Given the description of an element on the screen output the (x, y) to click on. 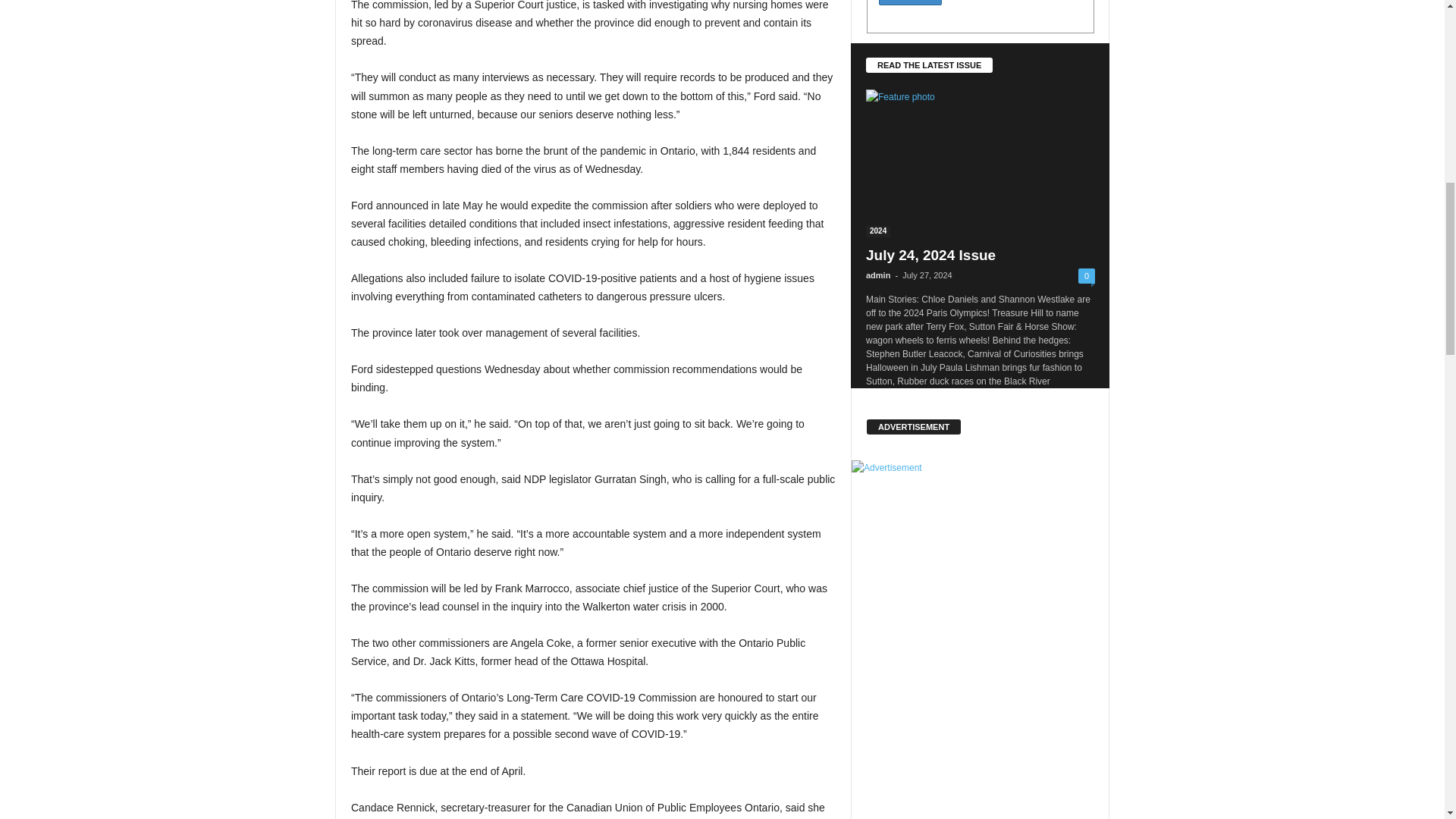
Subscribe (910, 2)
